Given the description of an element on the screen output the (x, y) to click on. 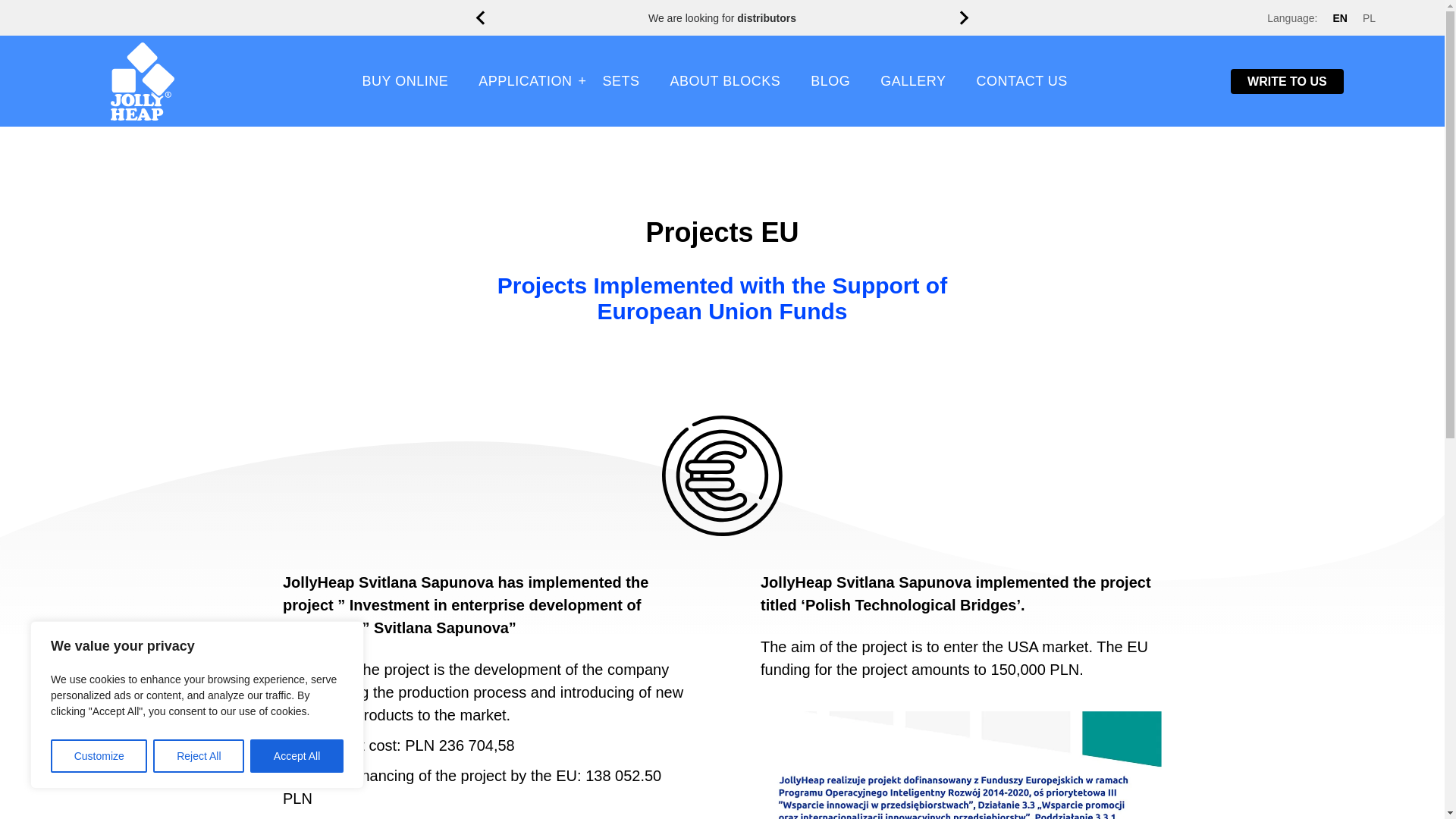
Reject All (198, 756)
PL (1369, 17)
BLOG (829, 81)
GALLERY (912, 81)
EN (1339, 17)
ABOUT BLOCKS (725, 81)
SETS (619, 81)
JollyHeap (142, 80)
Accept All (296, 756)
APPLICATION (524, 81)
WRITE TO US (1286, 81)
Customize (98, 756)
CONTACT US (1020, 81)
Next (963, 18)
BUY ONLINE (405, 81)
